Given the description of an element on the screen output the (x, y) to click on. 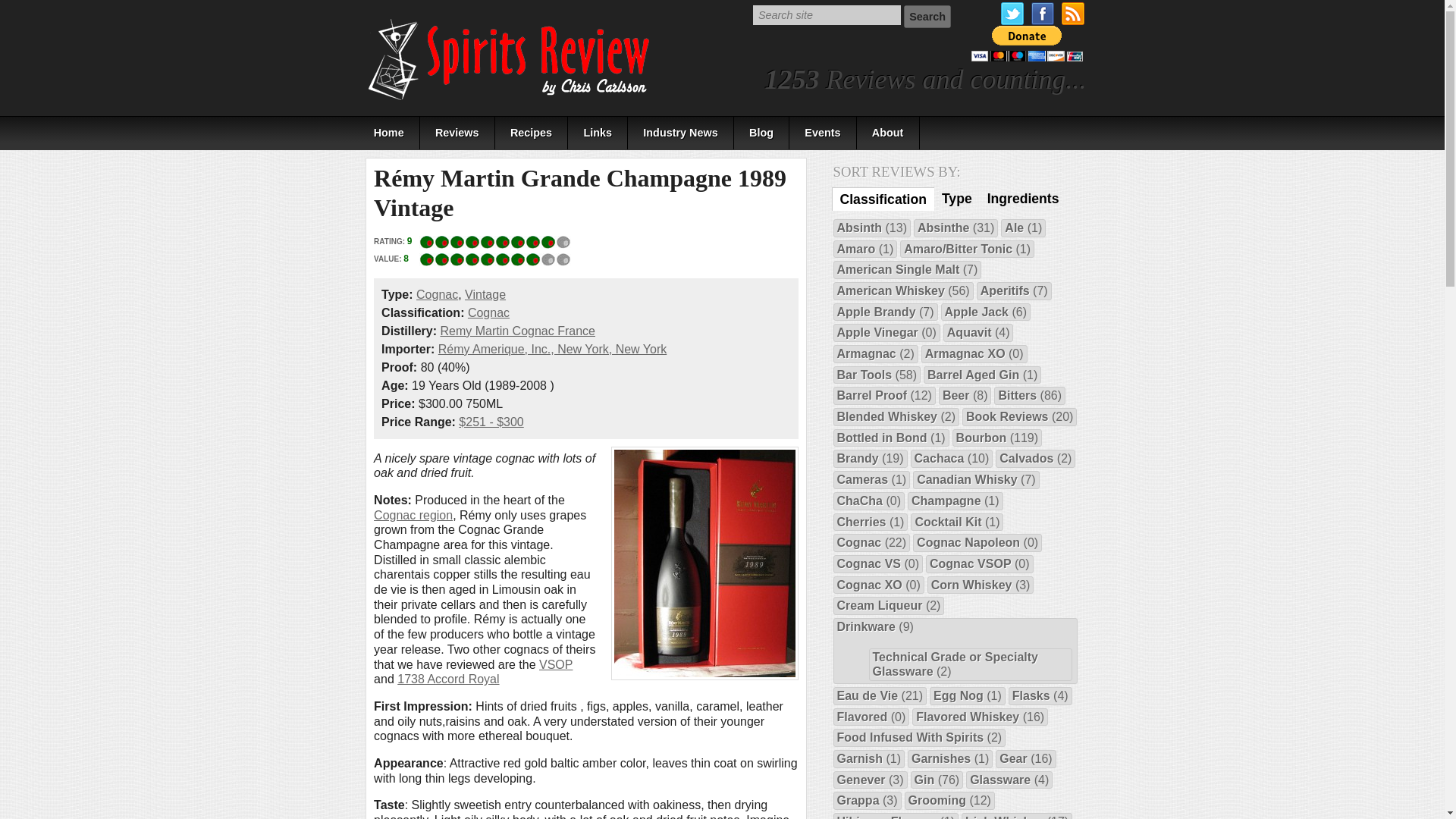
Search (927, 15)
Classification (882, 198)
Subscribe via RSS (1071, 13)
Vintage (484, 294)
Spirits Review (509, 59)
Ingredients (1023, 198)
About (888, 133)
Amaro (856, 248)
Type (956, 198)
Cognac region (413, 514)
Cognac (488, 312)
1738 Accord Royal (448, 678)
Cognac (437, 294)
Blog (761, 133)
Find us on Facebook (1042, 13)
